Given the description of an element on the screen output the (x, y) to click on. 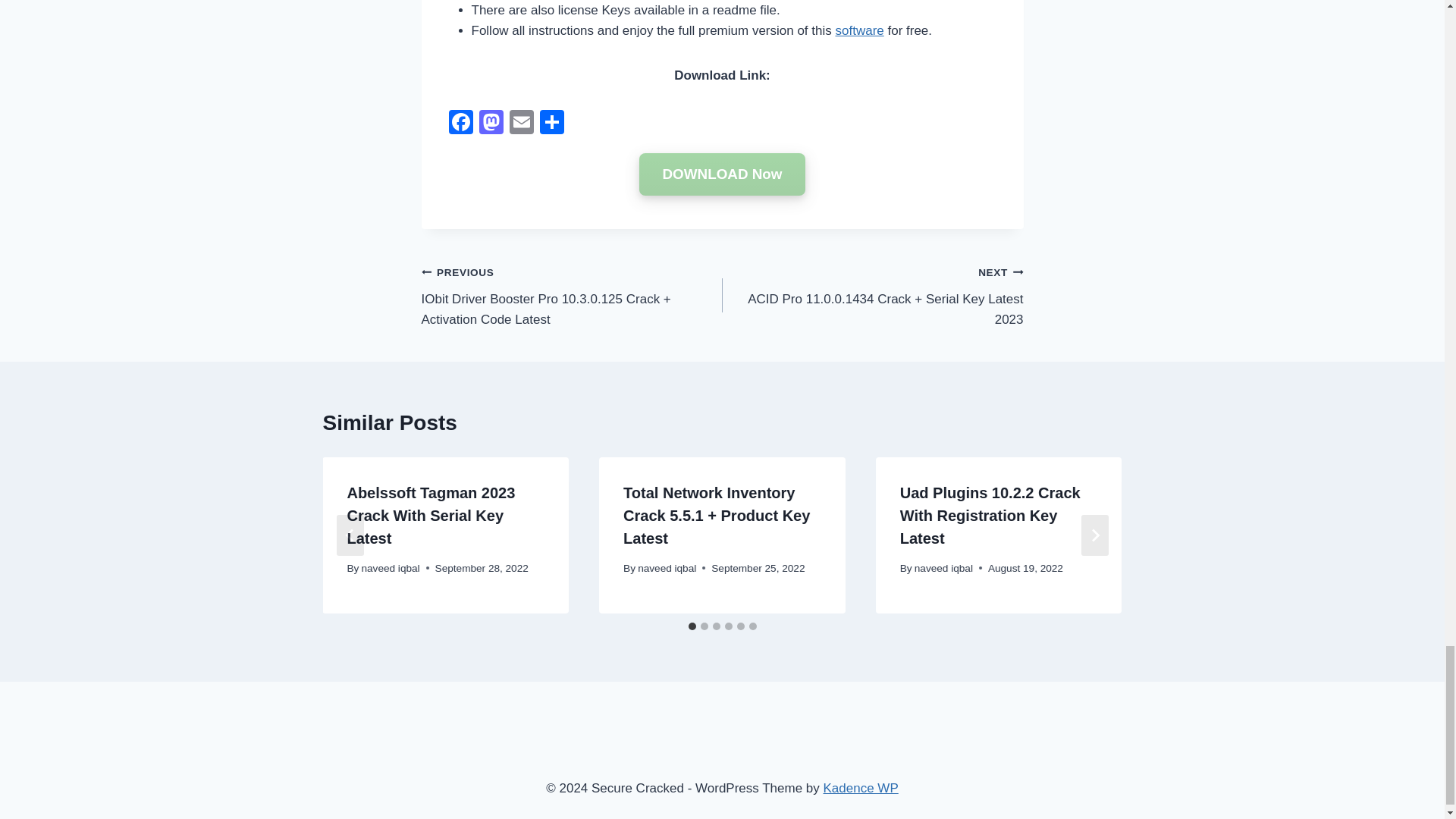
Email (521, 123)
software (859, 30)
DOWNLOAD Now (721, 174)
Email (521, 123)
Mastodon (491, 123)
Facebook (460, 123)
Mastodon (491, 123)
DOWNLOAD Now (722, 174)
Facebook (460, 123)
Share (552, 123)
